Given the description of an element on the screen output the (x, y) to click on. 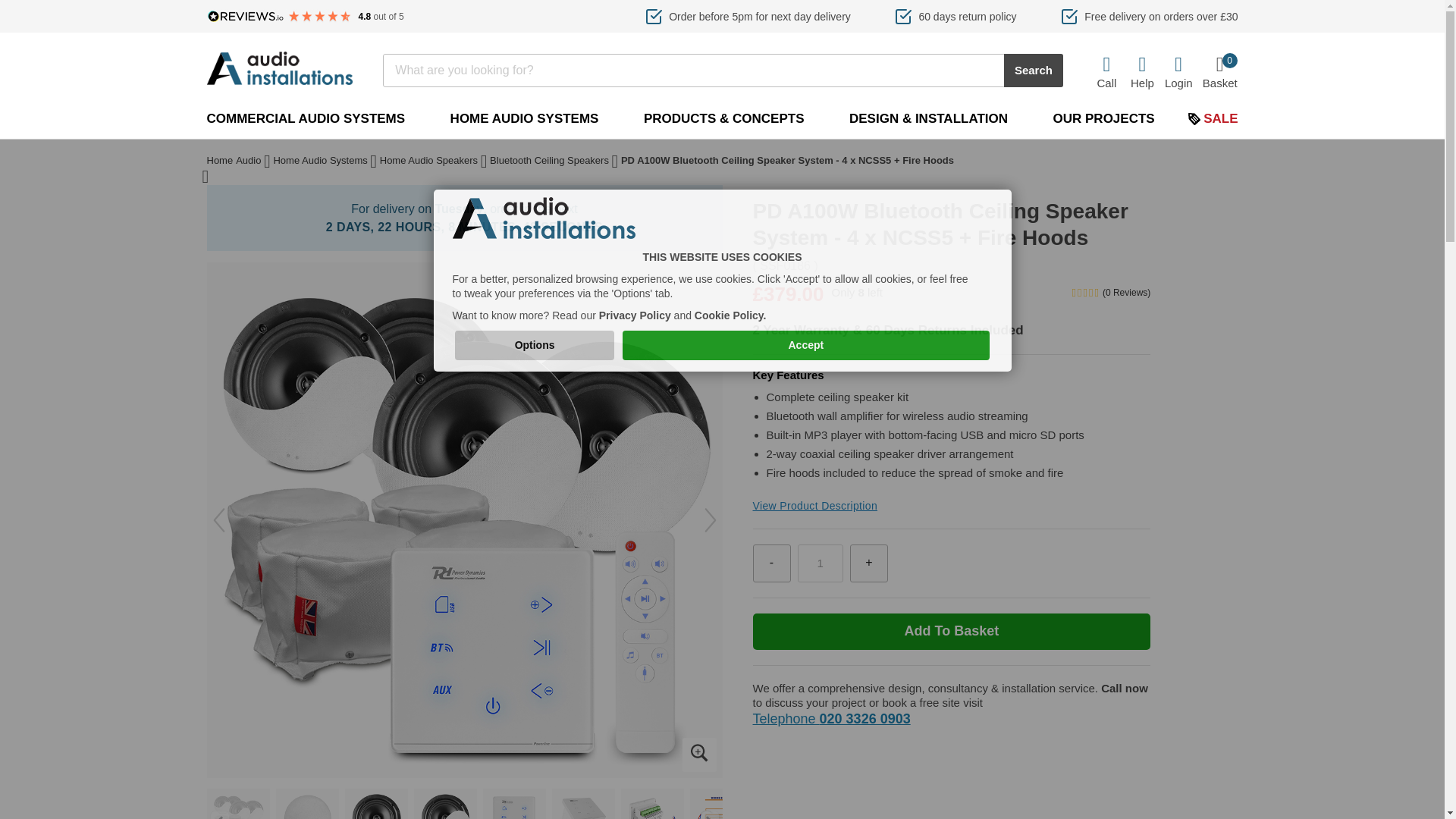
COMMERCIAL AUDIO SYSTEMS (305, 118)
4.8 out of 5 (304, 16)
Search (1033, 70)
Go to Home Page (219, 161)
- (771, 563)
1 (820, 563)
Privacy Policy (1219, 71)
Audio Installations (634, 315)
Search (279, 68)
Accept (1033, 70)
Cookie Policy. (806, 344)
Options (730, 315)
